Given the description of an element on the screen output the (x, y) to click on. 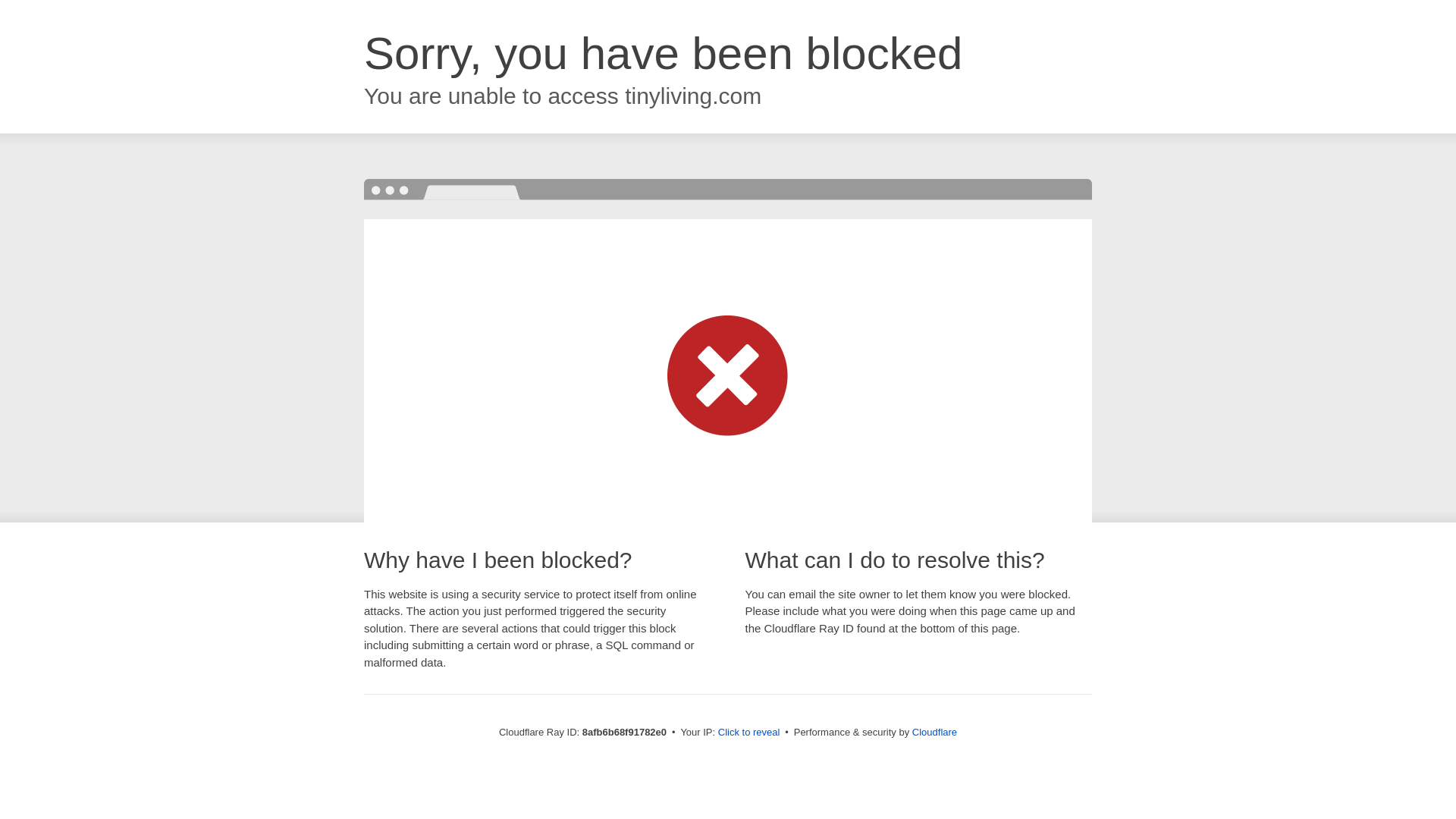
Click to reveal (748, 732)
Cloudflare (934, 731)
